Given the description of an element on the screen output the (x, y) to click on. 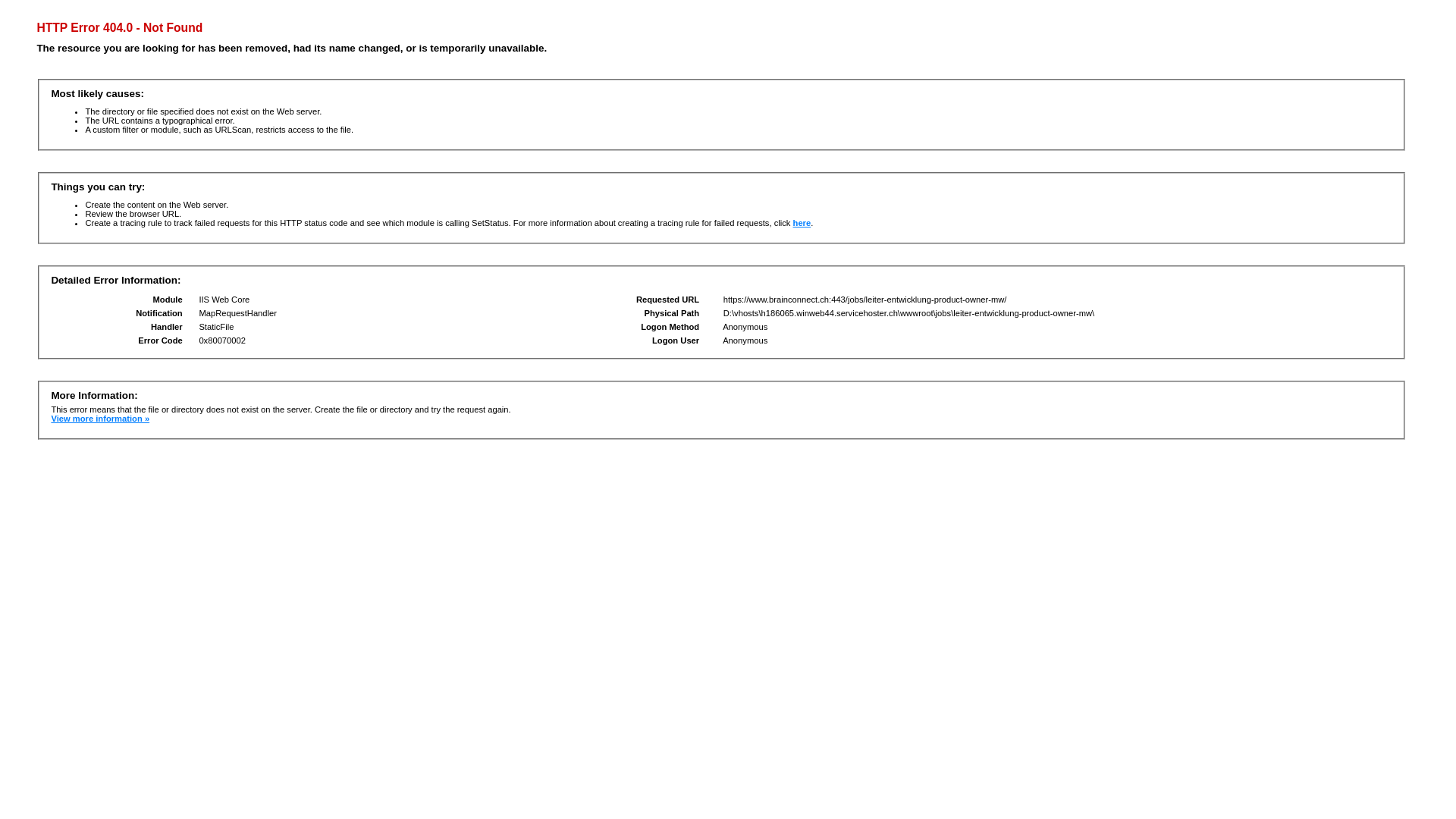
here Element type: text (802, 222)
